Given the description of an element on the screen output the (x, y) to click on. 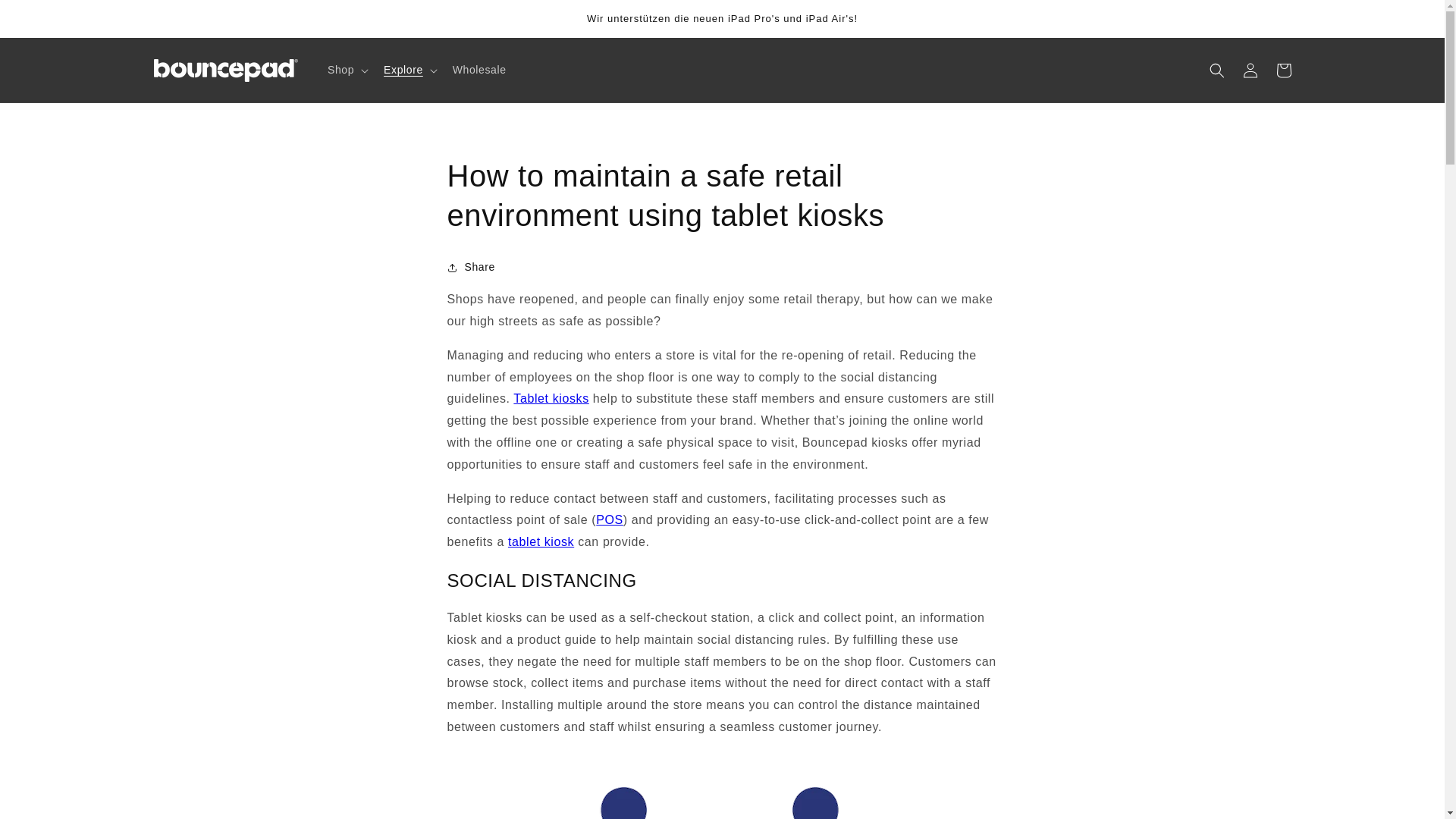
Skip to content (45, 16)
tablet kiosk (540, 541)
Tablet kiosks (550, 398)
POS (609, 519)
